Given the description of an element on the screen output the (x, y) to click on. 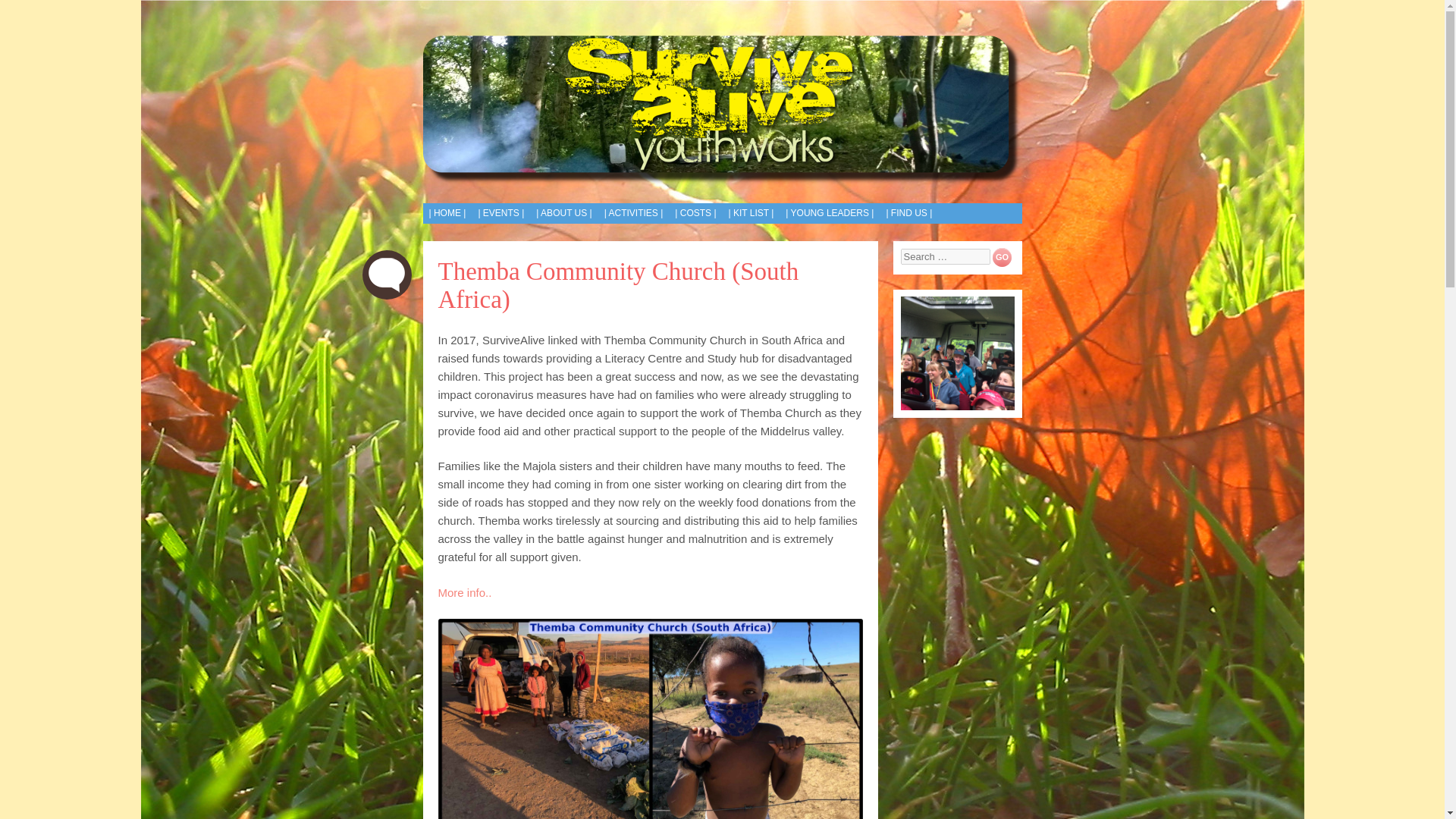
Go (1001, 257)
SurviveAlive (528, 224)
SurviveAlive (722, 109)
Chat (387, 274)
More info.. (465, 592)
Go (1001, 257)
SurviveAlive (528, 224)
All Chat posts (387, 274)
